Given the description of an element on the screen output the (x, y) to click on. 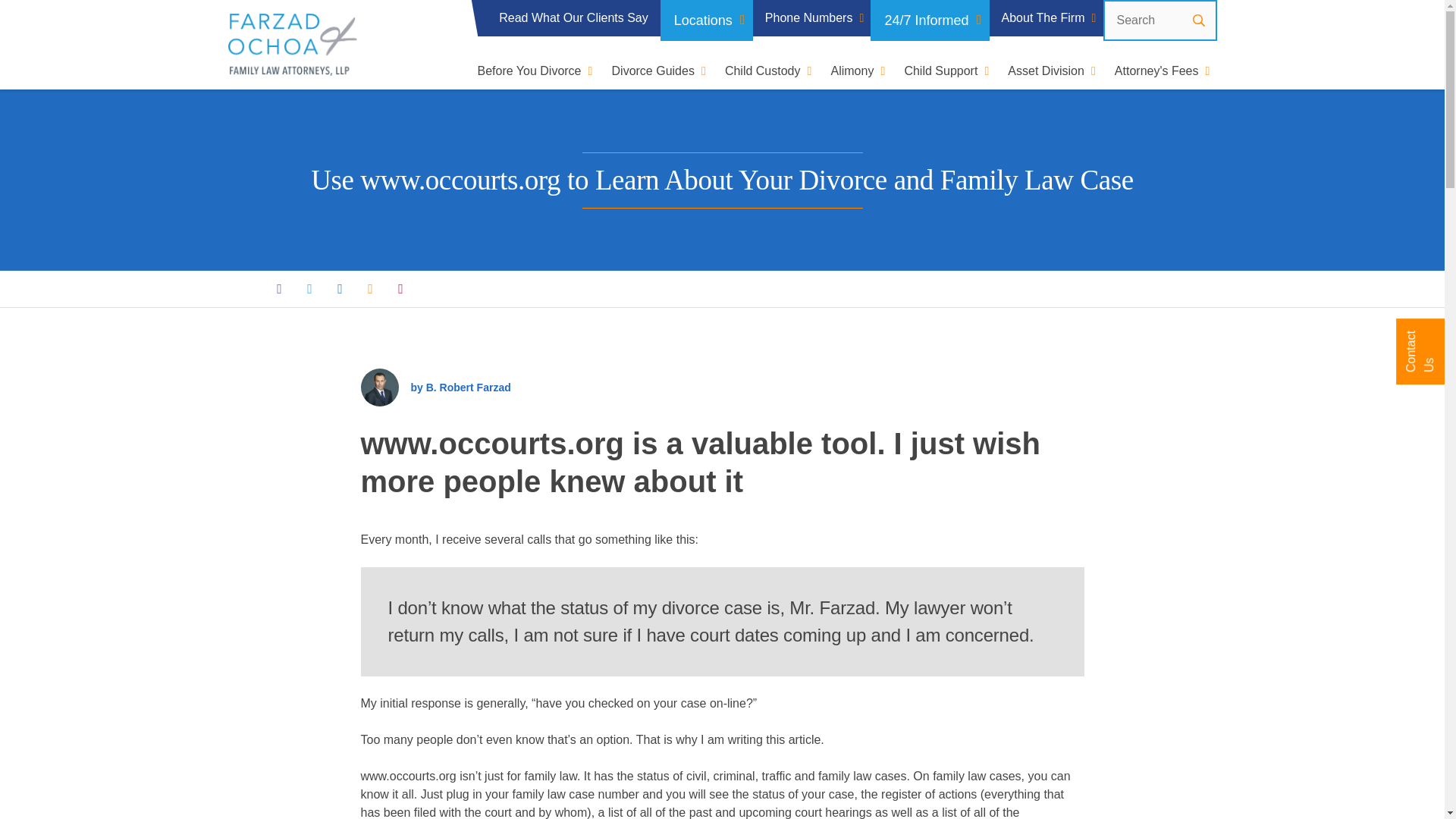
About The Firm (1046, 18)
Read What Our Clients Say (573, 18)
Locations (706, 20)
Phone Numbers (811, 18)
